Given the description of an element on the screen output the (x, y) to click on. 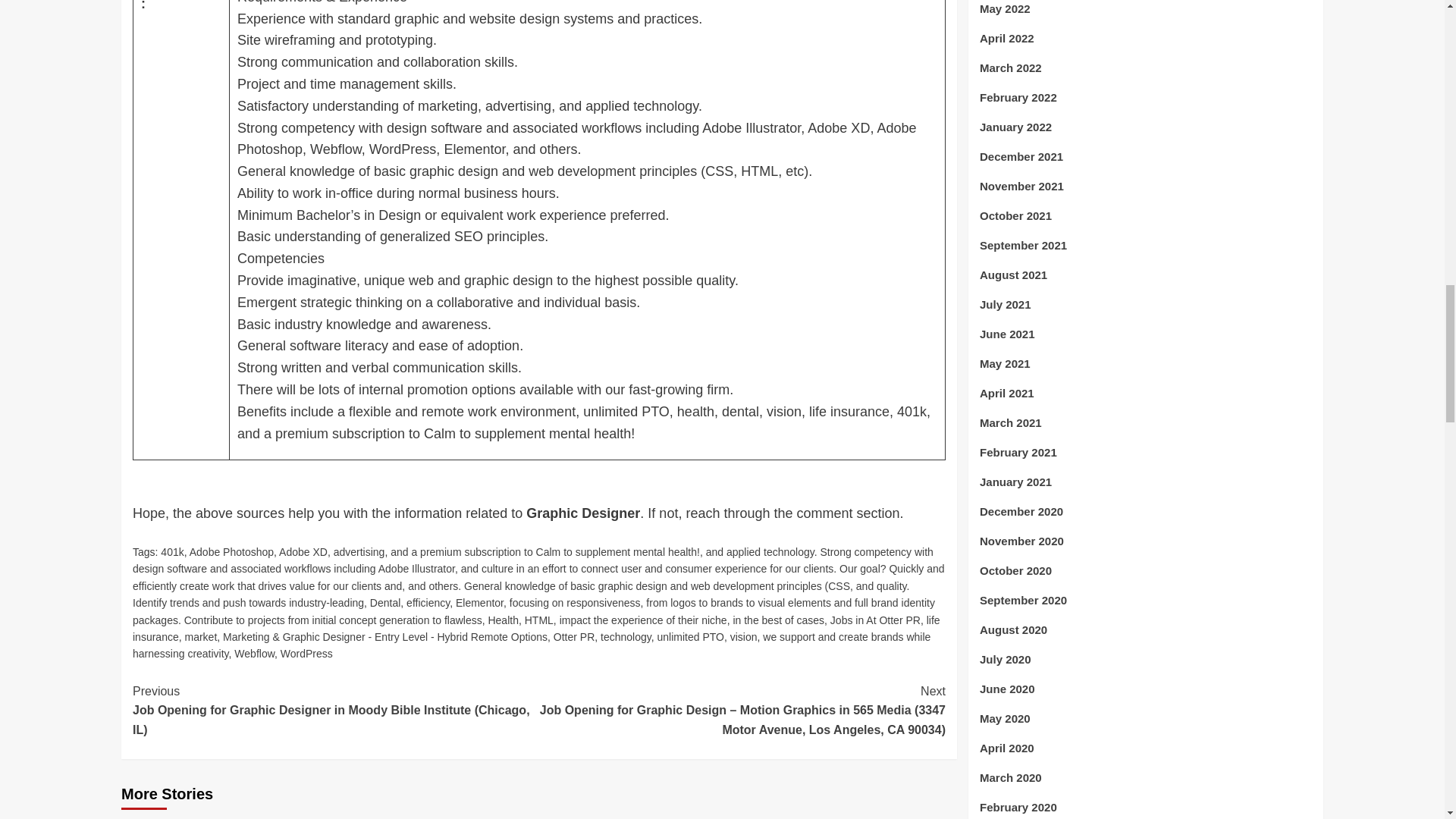
Dental (384, 603)
Elementor (479, 603)
Health (502, 620)
advertising (359, 551)
Adobe Photoshop (231, 551)
focusing on responsiveness (574, 603)
Adobe XD (303, 551)
401k (171, 551)
efficiency (427, 603)
